Given the description of an element on the screen output the (x, y) to click on. 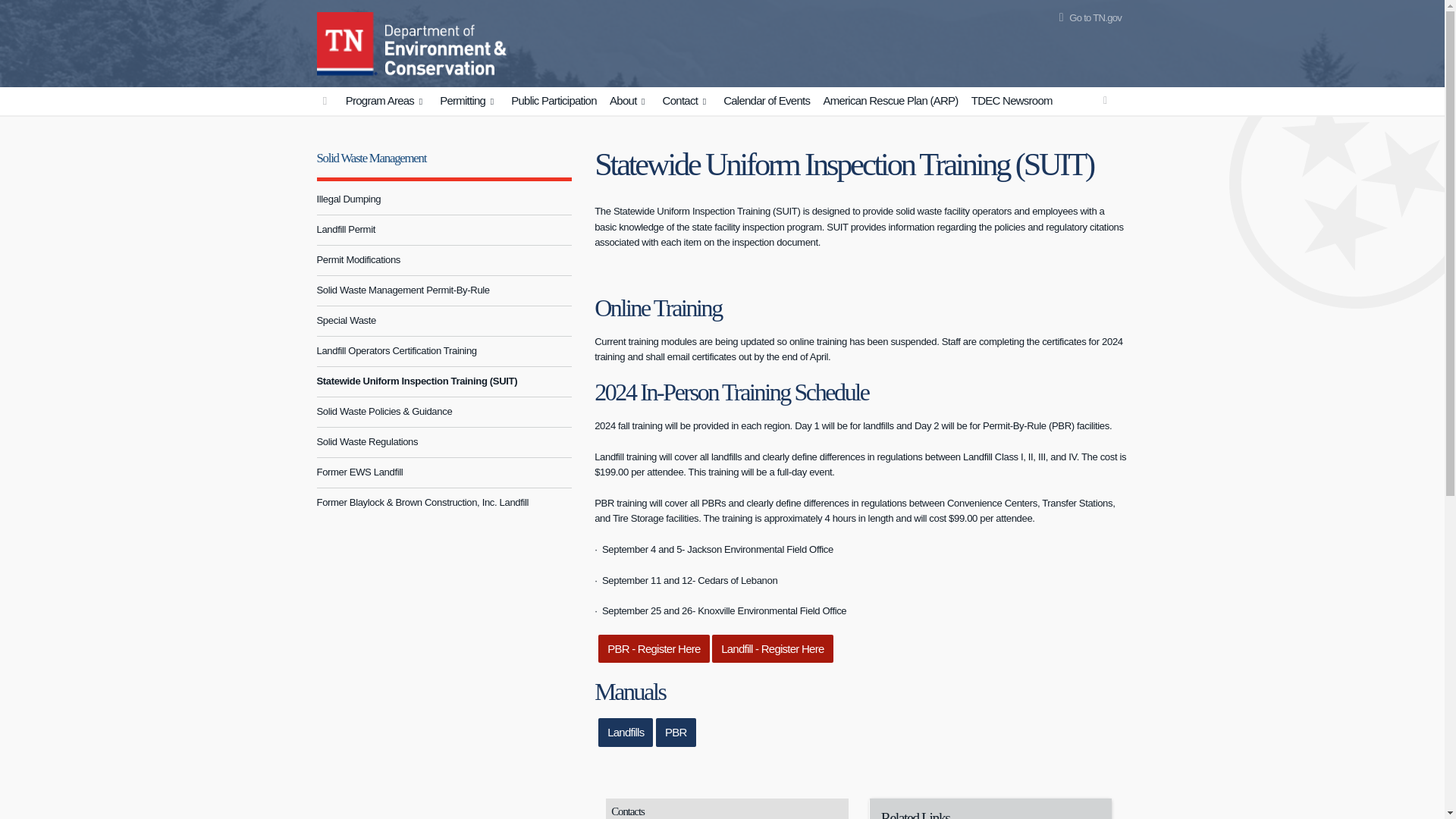
Home (347, 41)
Permitting (468, 101)
Go to TN.gov (1086, 18)
Program Areas (386, 101)
Public Participation (553, 100)
About (628, 101)
